Given the description of an element on the screen output the (x, y) to click on. 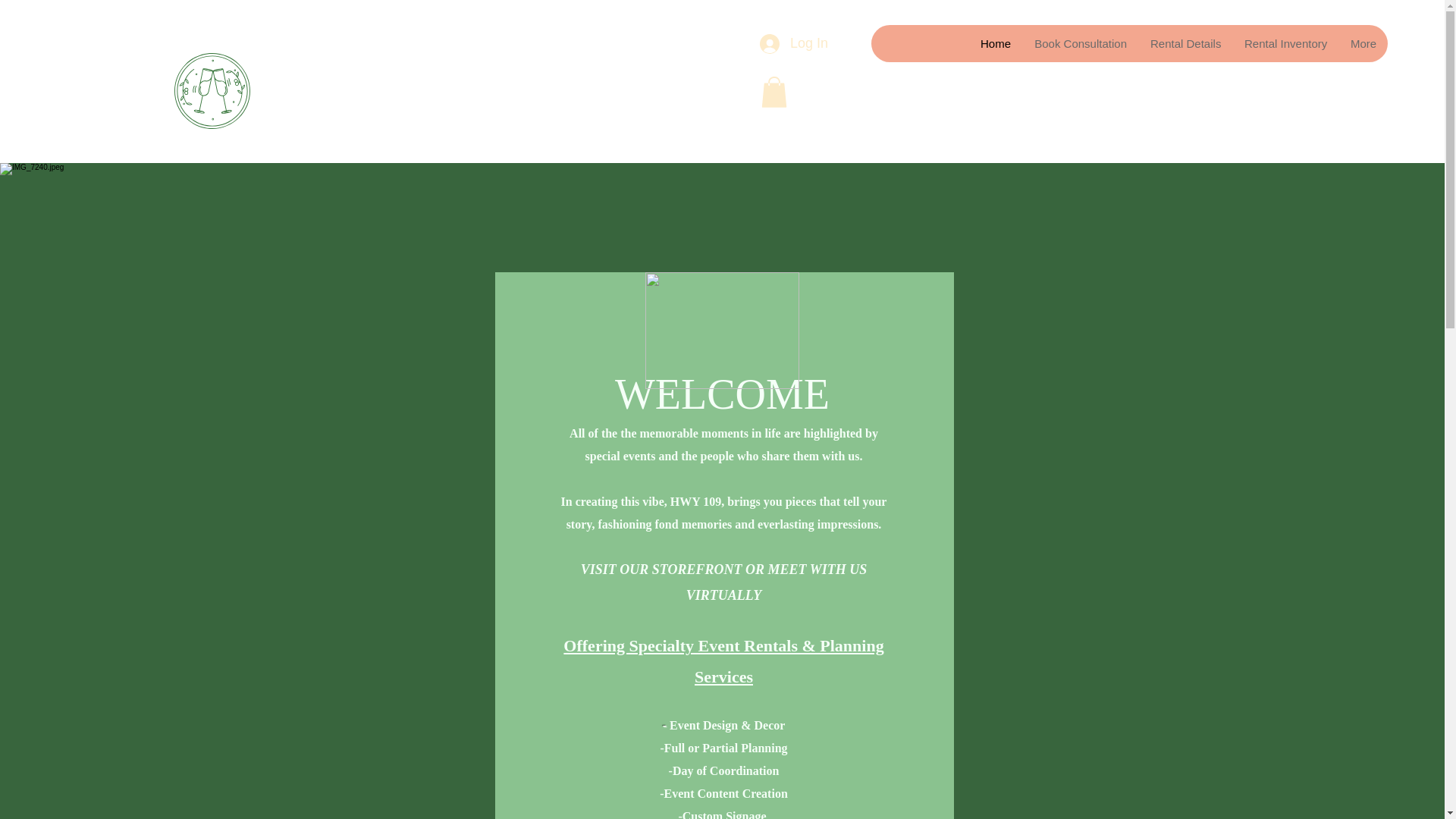
Rental Details (1184, 43)
Rental Inventory (1284, 43)
Book Consultation (1080, 43)
Home (995, 43)
Log In (783, 43)
